Given the description of an element on the screen output the (x, y) to click on. 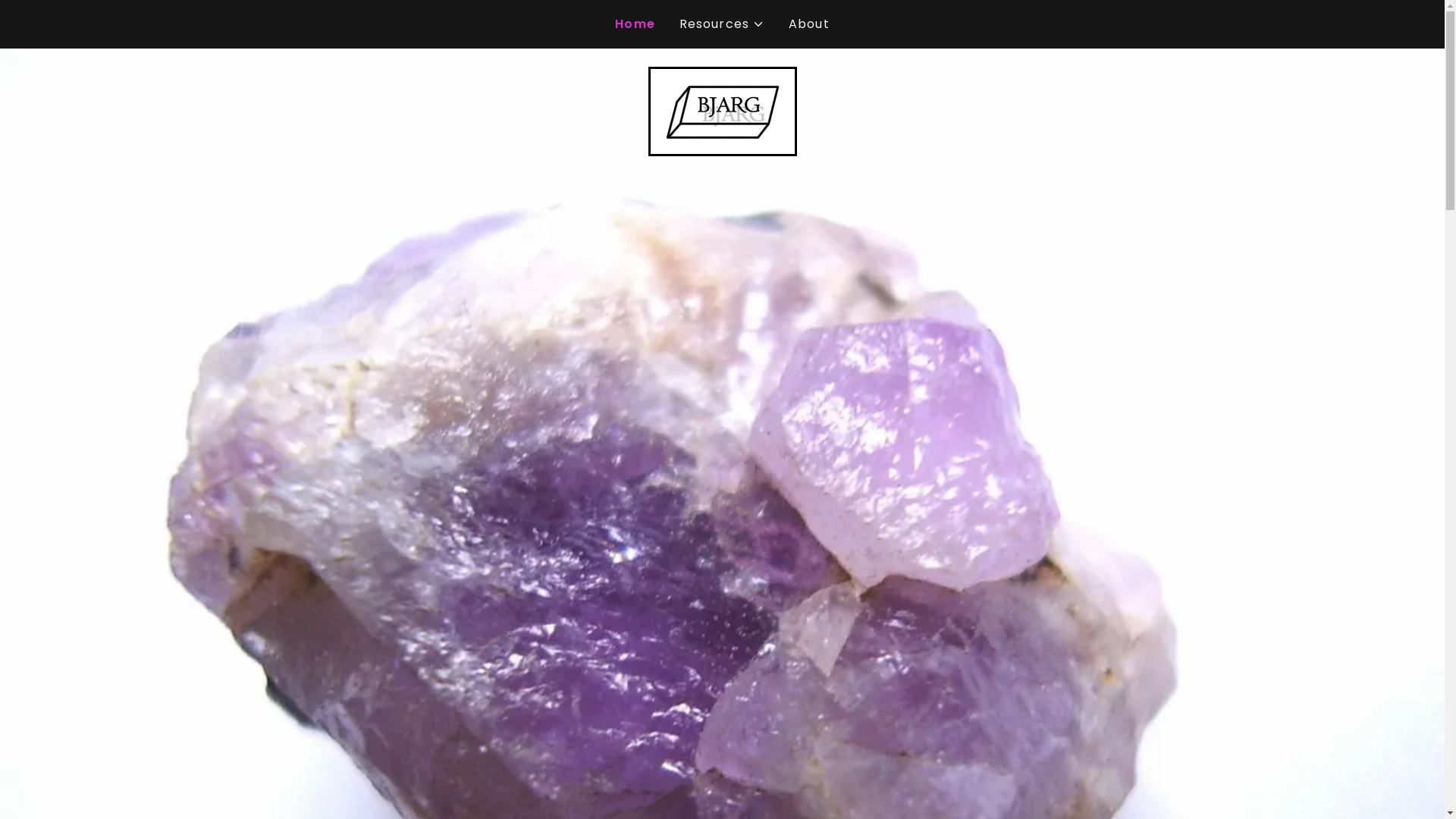
Bjarg Element type: hover (722, 109)
About Element type: text (809, 23)
Home Element type: text (635, 24)
Resources Element type: text (721, 24)
